Given the description of an element on the screen output the (x, y) to click on. 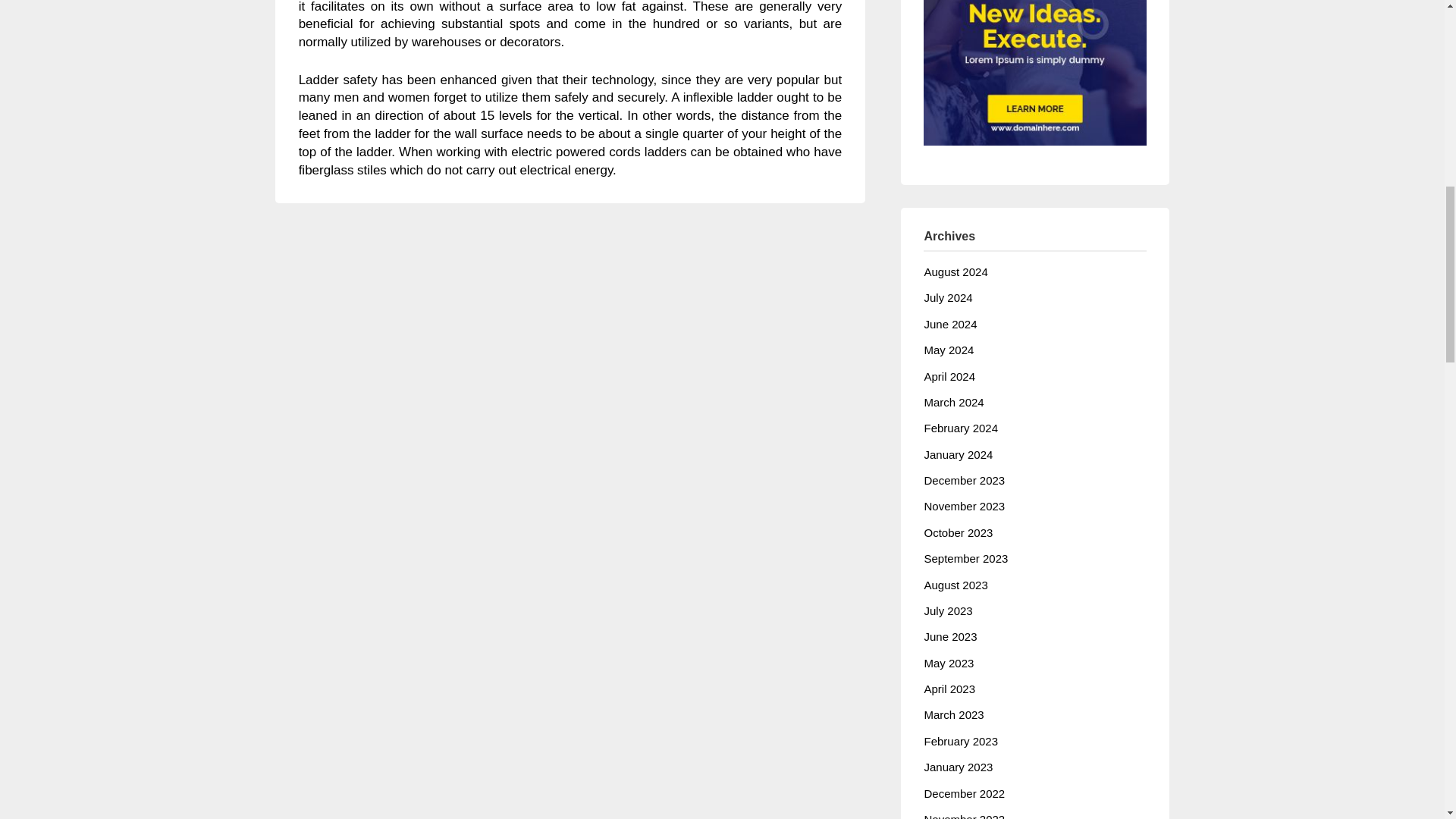
July 2024 (947, 297)
February 2023 (960, 740)
August 2024 (955, 271)
March 2023 (953, 714)
July 2023 (947, 610)
June 2024 (949, 323)
January 2024 (957, 454)
December 2022 (963, 793)
October 2023 (957, 532)
May 2024 (948, 349)
January 2023 (957, 766)
September 2023 (965, 558)
December 2023 (963, 480)
May 2023 (948, 662)
April 2023 (949, 688)
